Given the description of an element on the screen output the (x, y) to click on. 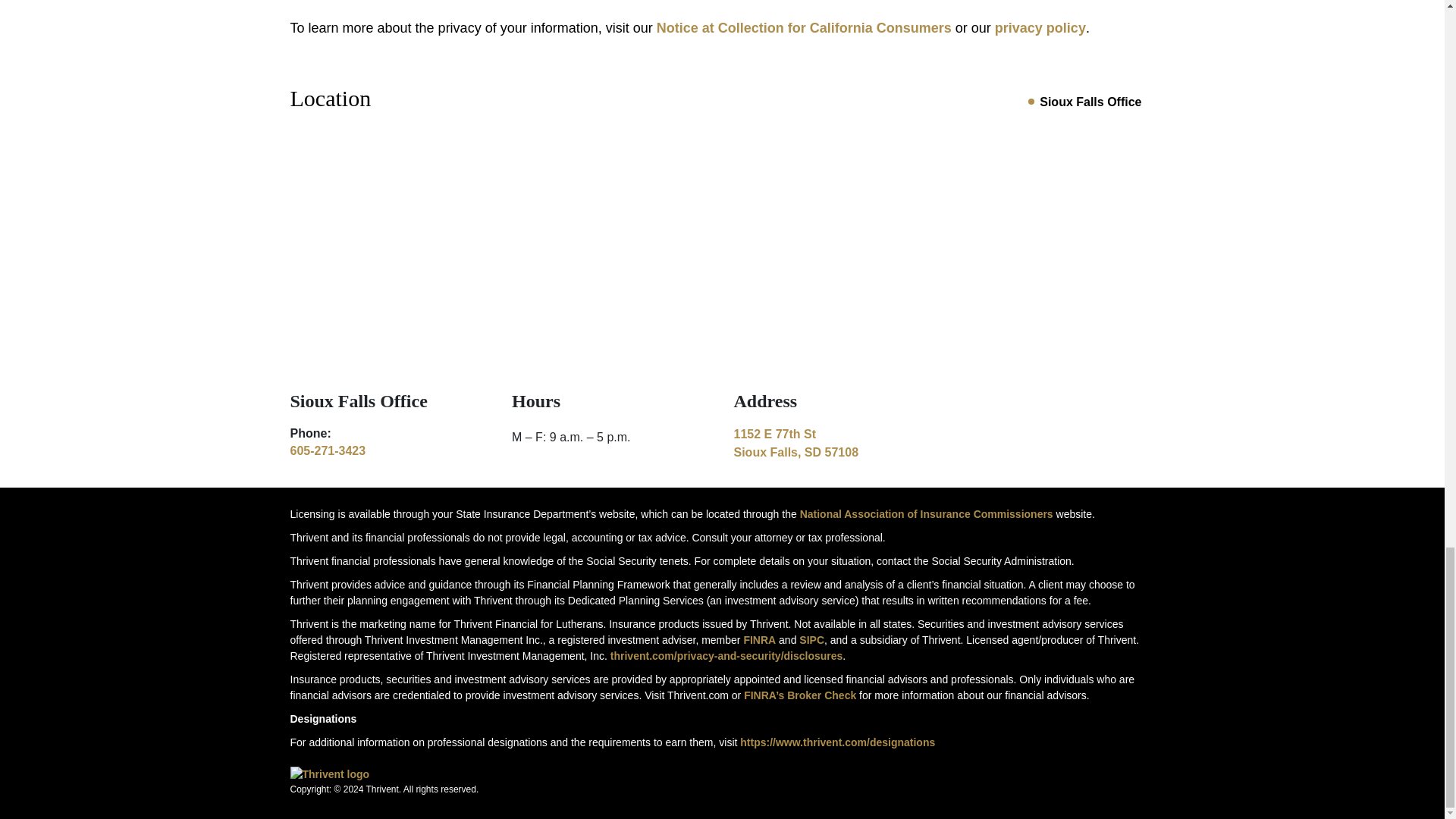
privacy policy (833, 443)
Notice at Collection for California Consumers (1040, 28)
FINRA (804, 28)
605-271-3423 (759, 639)
SIPC (327, 450)
National Association of Insurance Commissioners (811, 639)
Sioux Falls Office (925, 513)
